Given the description of an element on the screen output the (x, y) to click on. 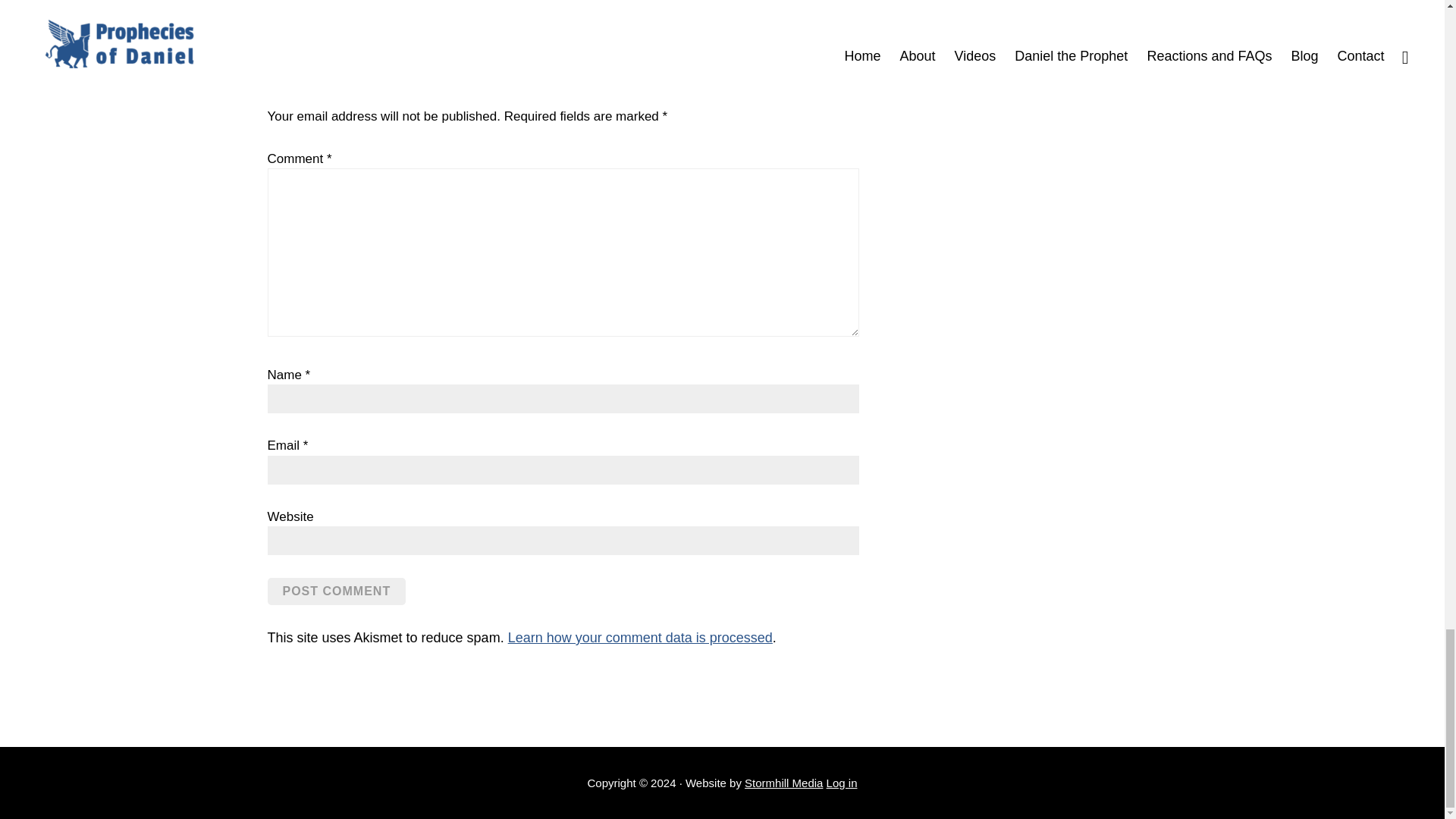
Post Comment (336, 591)
